Given the description of an element on the screen output the (x, y) to click on. 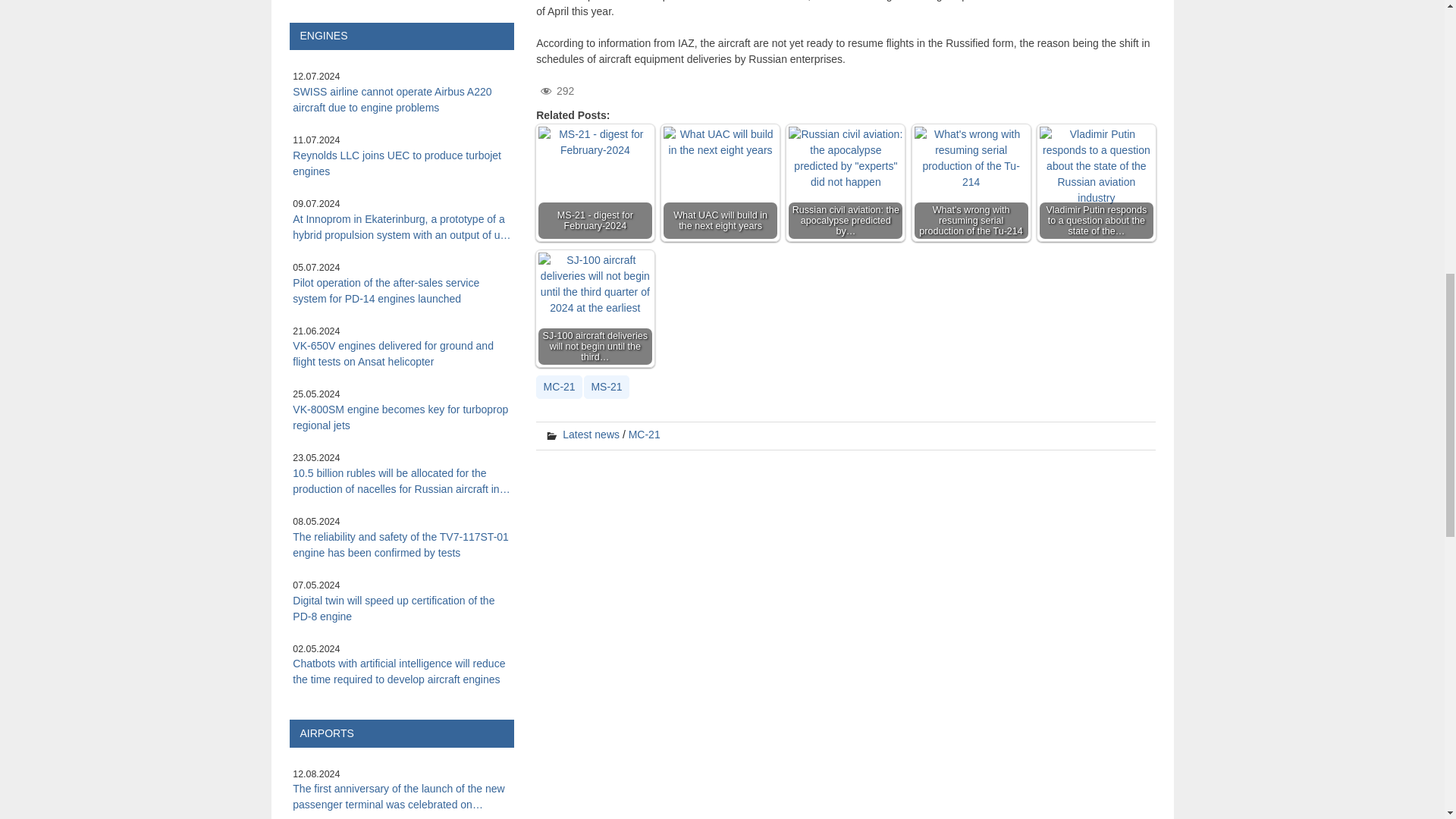
What's wrong with resuming serial production of the Tu-214 (971, 182)
Latest news (591, 434)
MC-21 (644, 434)
MC-21 (558, 386)
MS-21 - digest for February-2024 (595, 183)
MS-21 (605, 386)
